Given the description of an element on the screen output the (x, y) to click on. 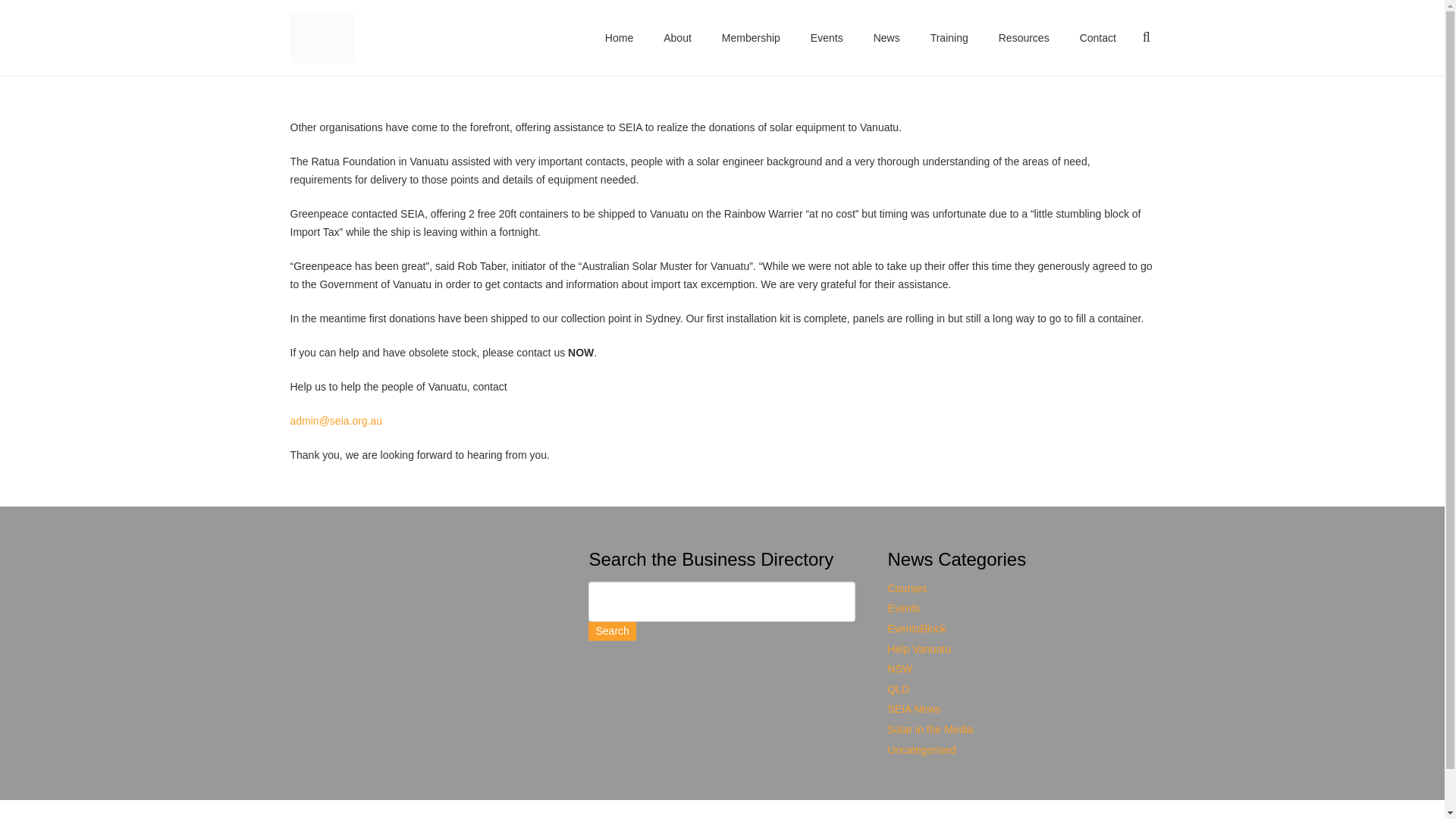
Courses (906, 588)
Resources (1024, 38)
Search (611, 630)
Membership (750, 38)
Search (611, 630)
Search (611, 630)
Training (949, 38)
